Given the description of an element on the screen output the (x, y) to click on. 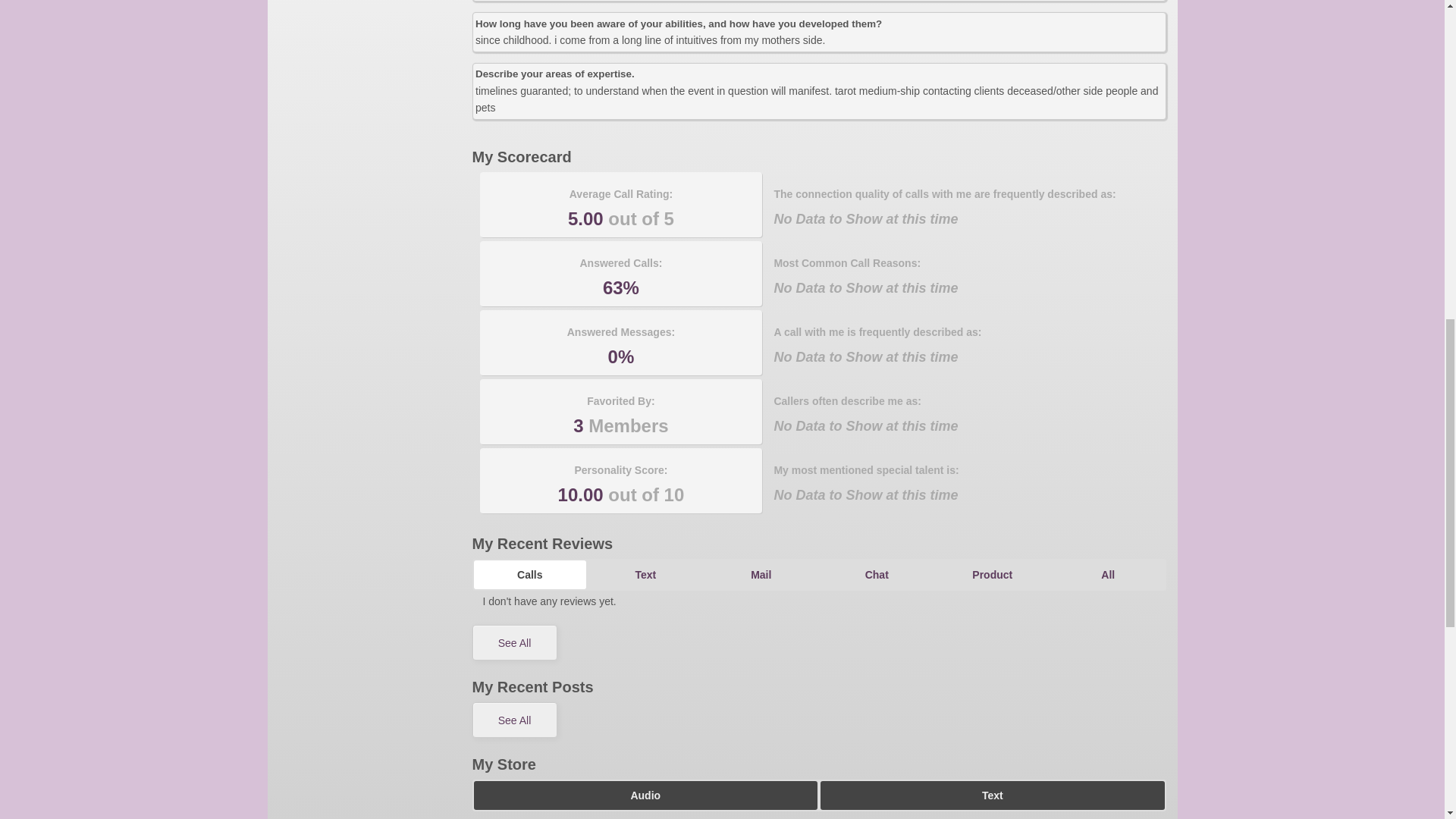
Text (645, 574)
Chat (877, 574)
All (1107, 574)
Mail (761, 574)
See All (513, 642)
Product (992, 574)
Calls (529, 574)
